Given the description of an element on the screen output the (x, y) to click on. 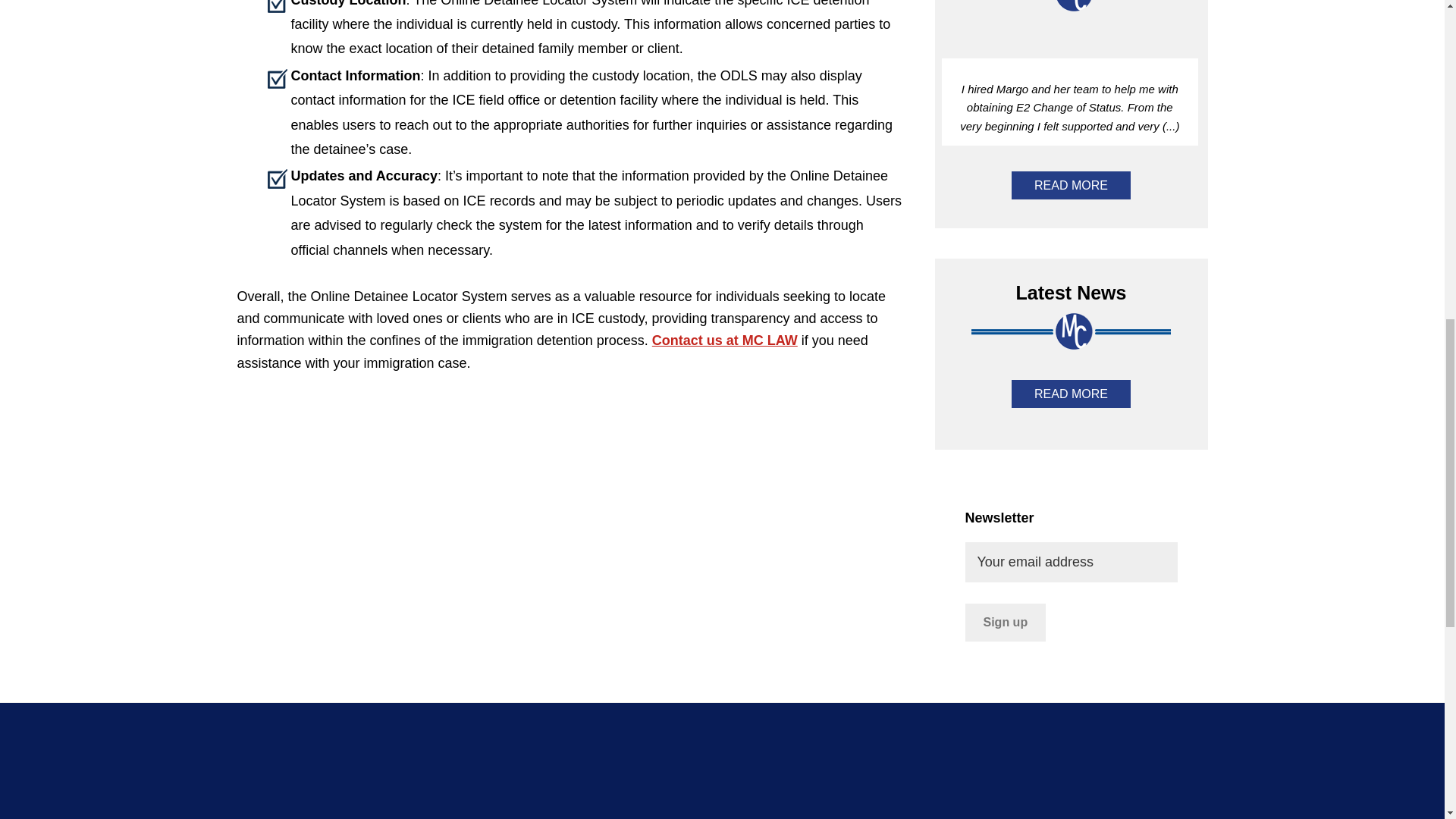
Sign up (1004, 622)
